Given the description of an element on the screen output the (x, y) to click on. 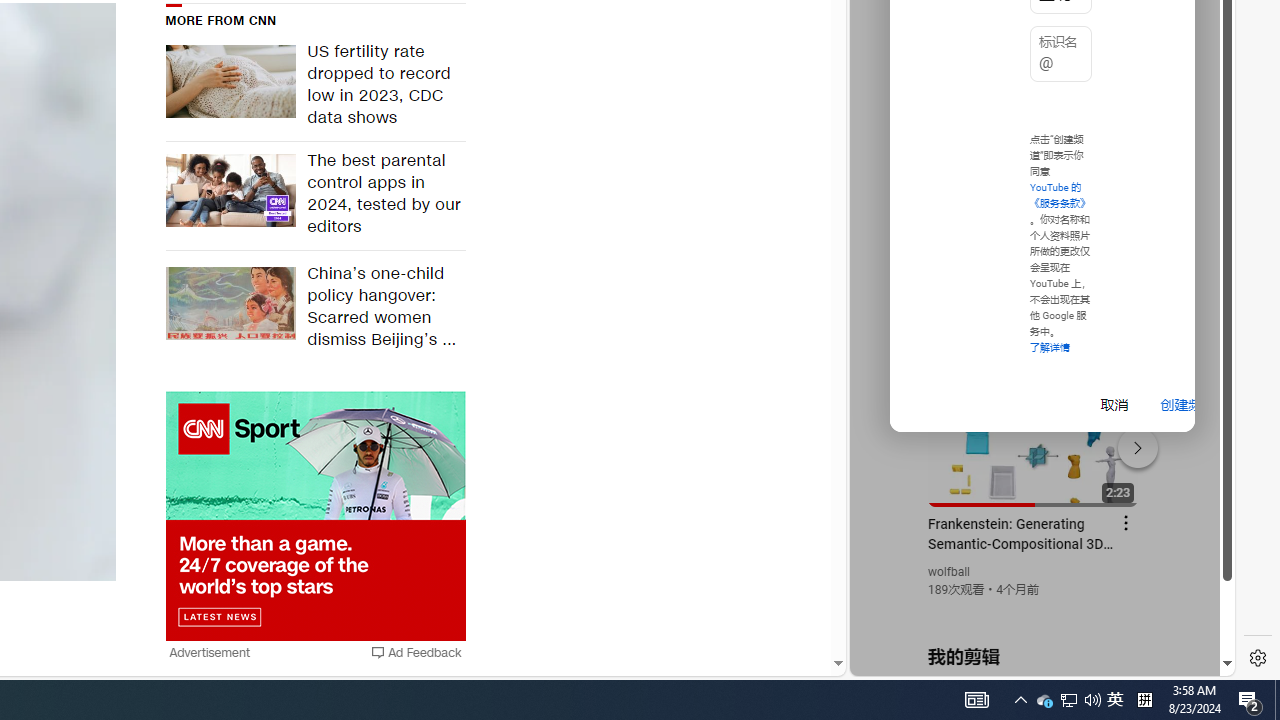
YouTube - YouTube (1034, 266)
AutomationID: aw0 (315, 516)
wolfball (949, 572)
US[ju] (917, 660)
